Given the description of an element on the screen output the (x, y) to click on. 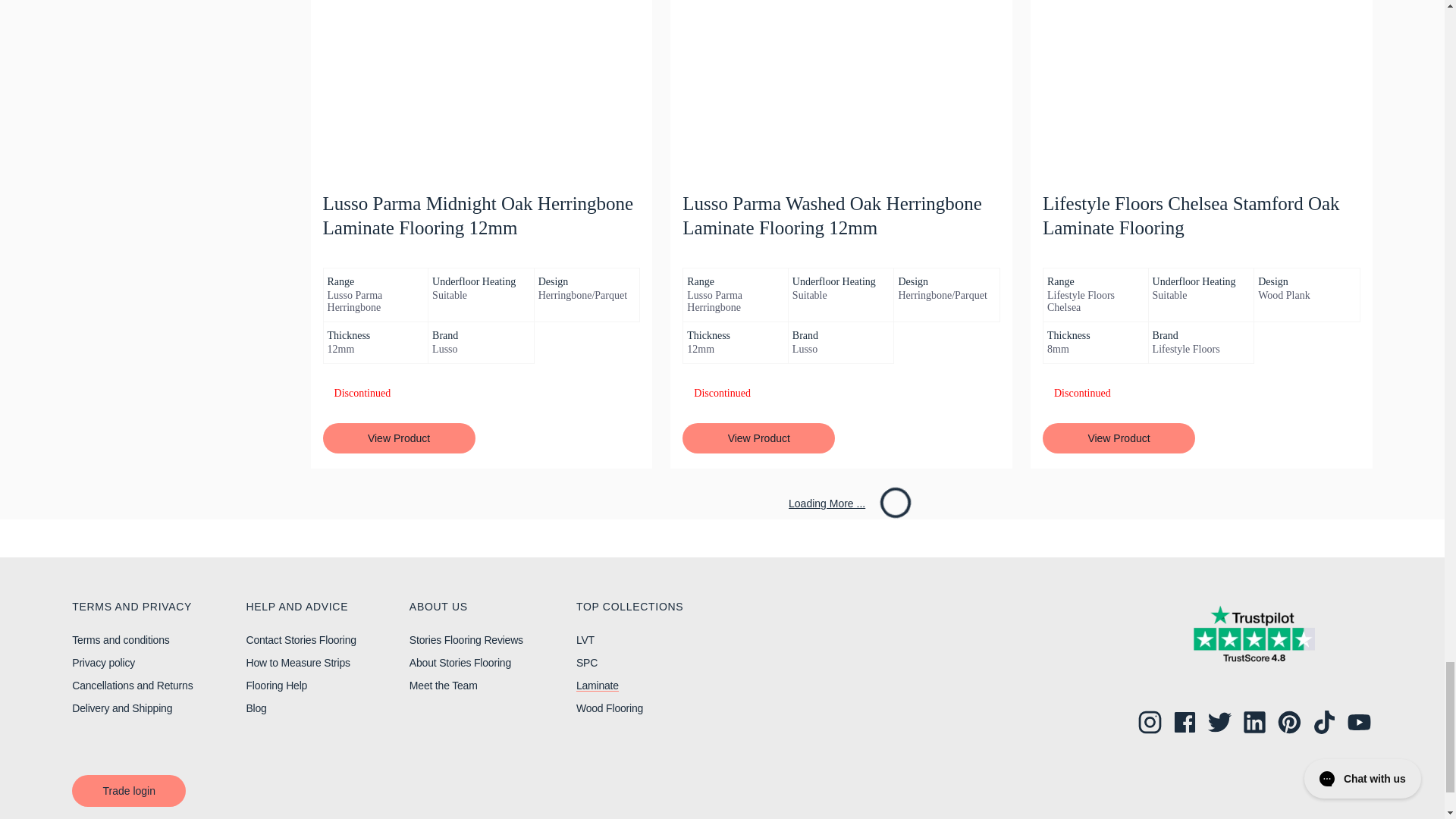
Loading More ... (842, 503)
